Given the description of an element on the screen output the (x, y) to click on. 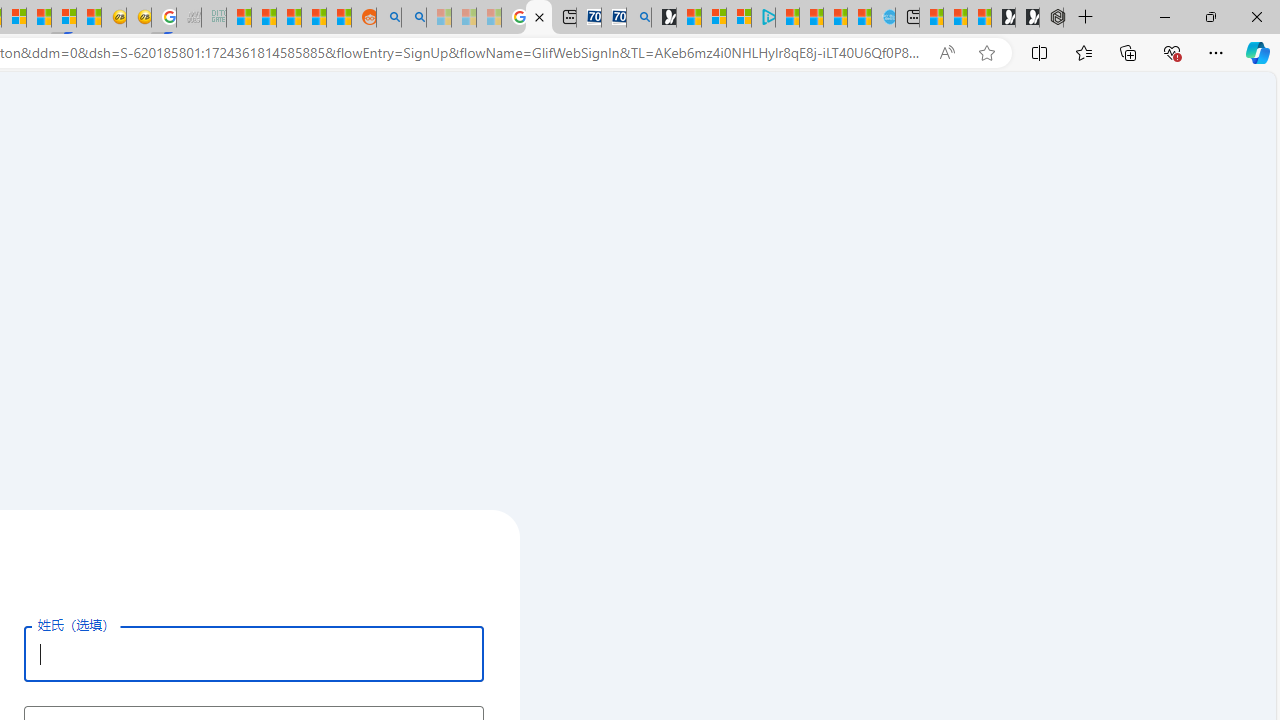
Utah sues federal government - Search (413, 17)
